Given the description of an element on the screen output the (x, y) to click on. 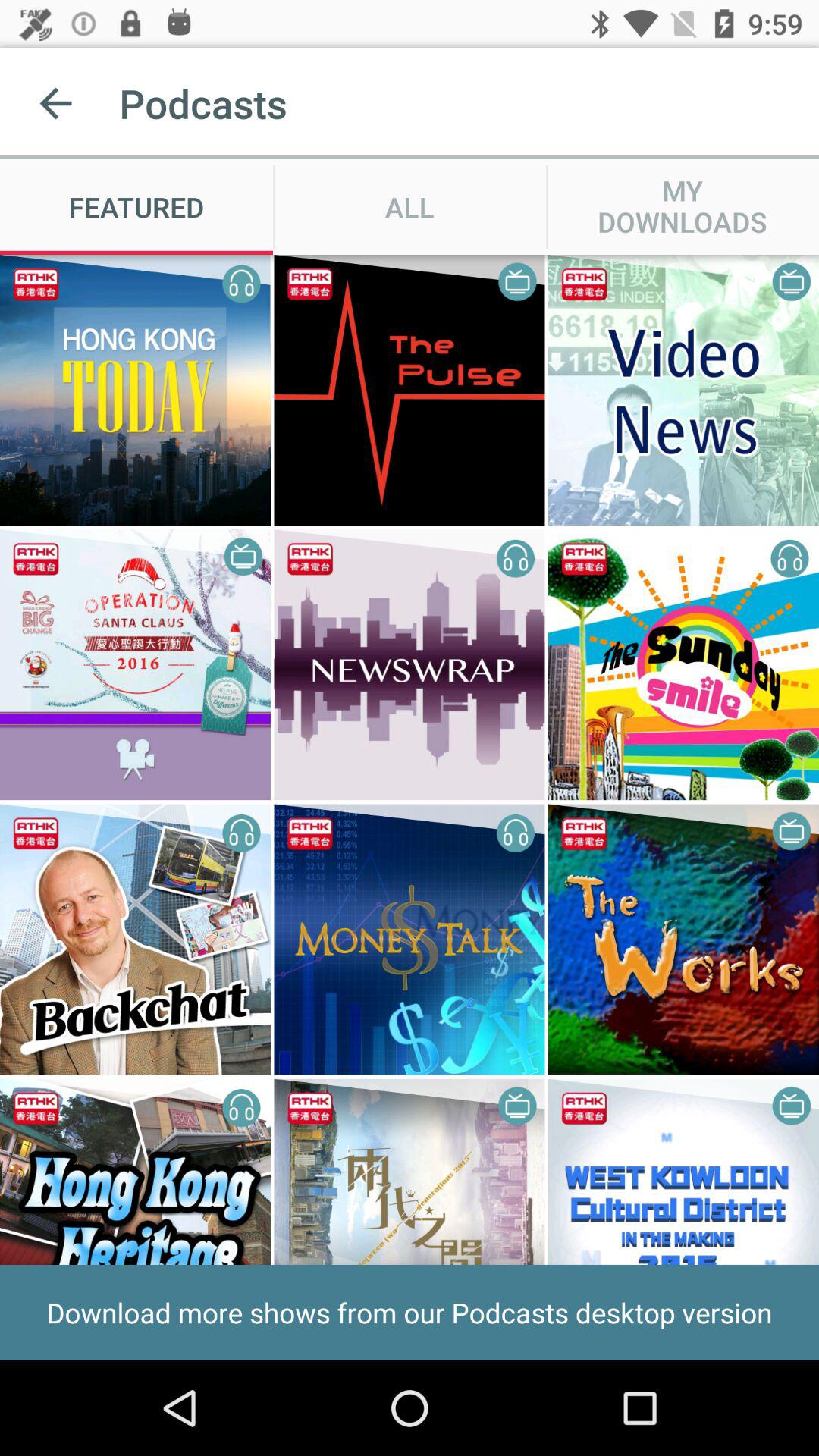
select the image in which it says newswrap (409, 664)
select the right icon which is in the fourth row first image (242, 1106)
select the music symbol which is in the 3rd row 2nd image (516, 832)
select all (409, 206)
select the symbol which is at the top right corner of the fourth row second image (517, 1105)
